Given the description of an element on the screen output the (x, y) to click on. 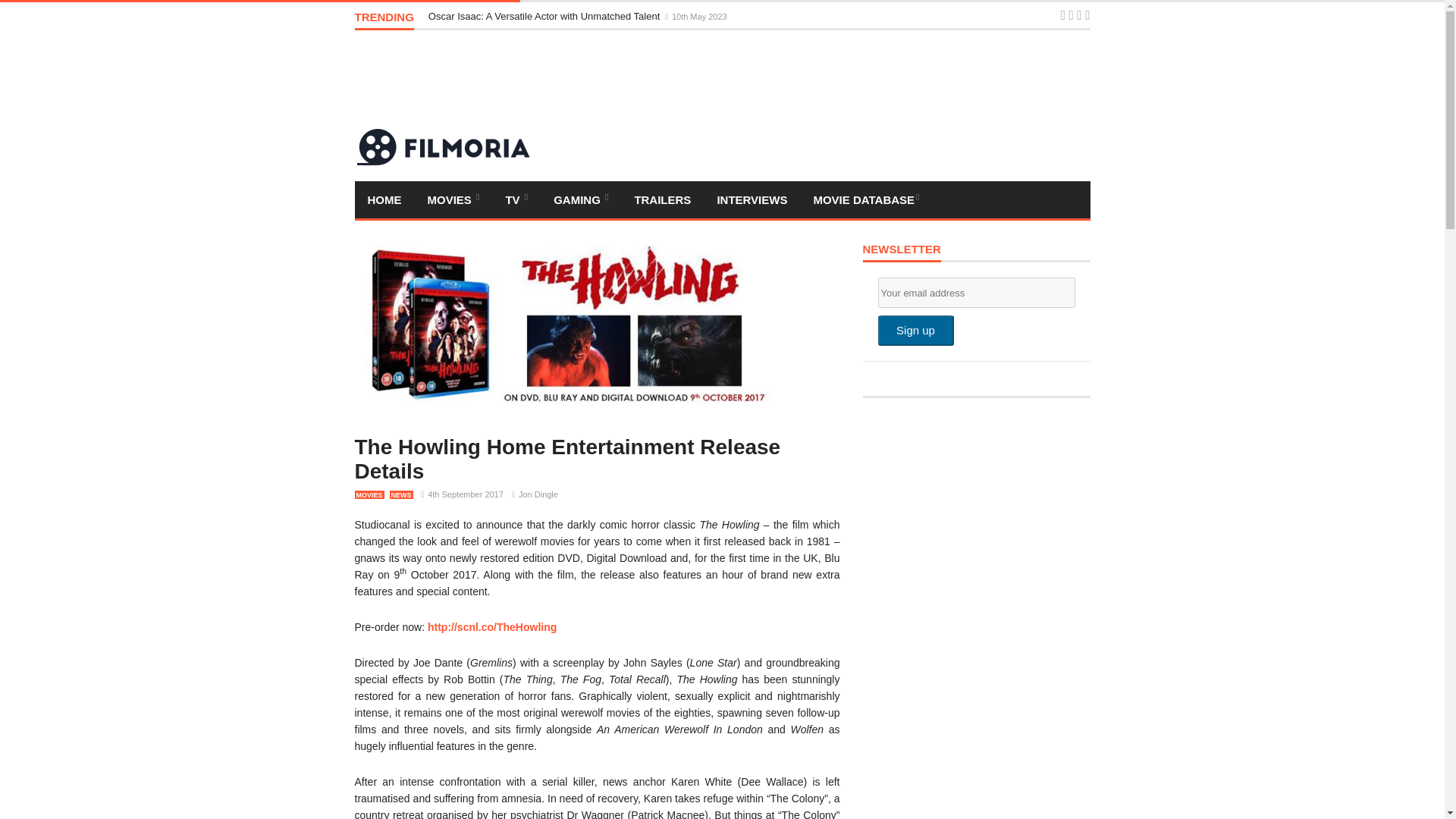
Sign up (915, 330)
Oscar Isaac: A Versatile Actor with Unmatched Talent (545, 16)
Home (384, 199)
Gaming (580, 199)
Interviews (751, 199)
Movies (452, 199)
TRENDING (384, 20)
Trailers (662, 199)
TV (516, 199)
Advertisement (814, 79)
MOVIES (452, 199)
HOME (384, 199)
